Given the description of an element on the screen output the (x, y) to click on. 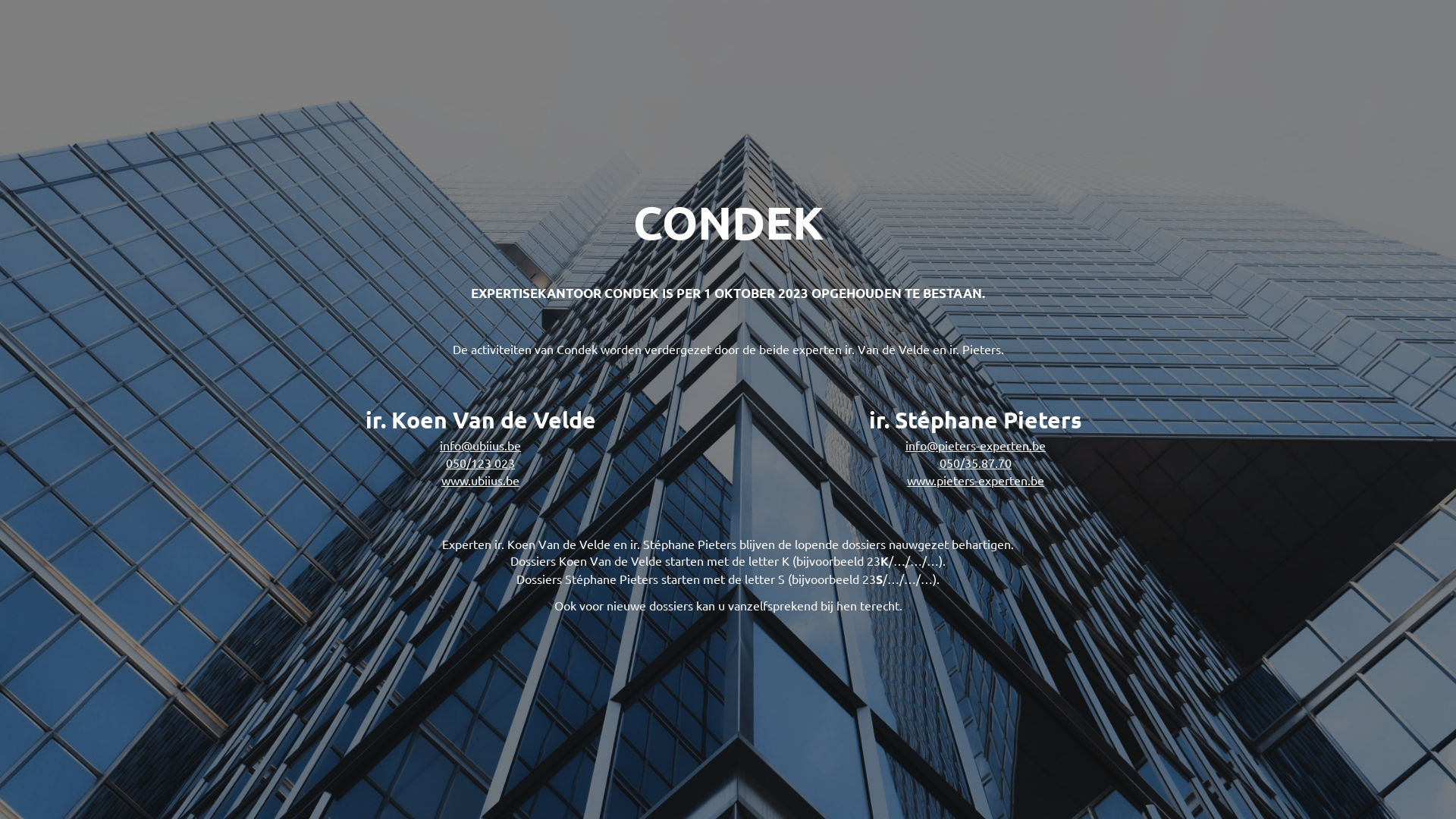
www.ubiius.be Element type: text (480, 479)
info@pieters-experten.be Element type: text (975, 444)
050/123 023 Element type: text (479, 462)
050/35.87.70 Element type: text (975, 462)
info@ubiius.be Element type: text (479, 444)
www.pieters-experten.be Element type: text (975, 479)
